Given the description of an element on the screen output the (x, y) to click on. 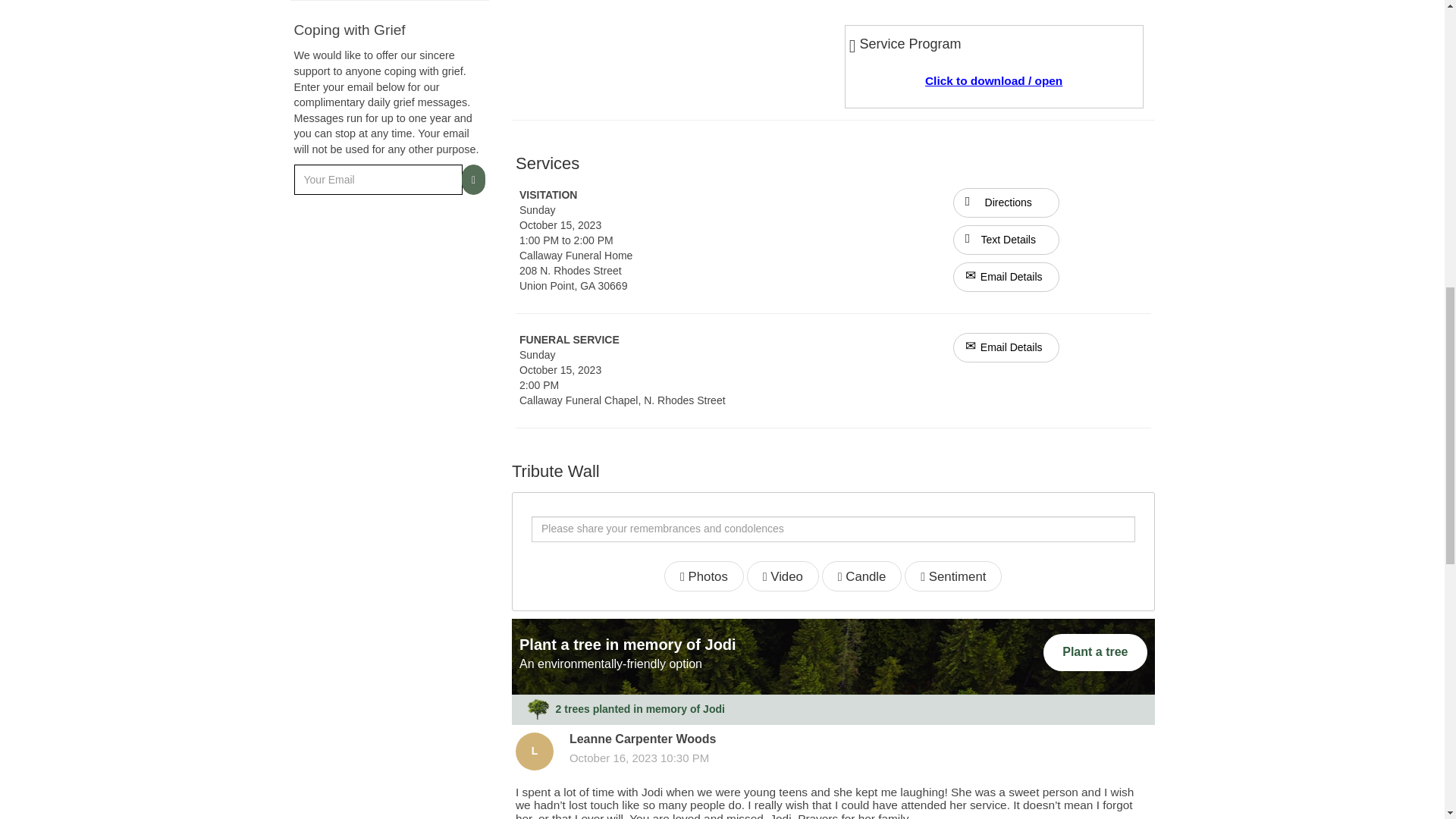
Directions (1006, 202)
Email Details (1006, 276)
Plant a tree (1095, 652)
Plant a tree (1095, 651)
Directions (1006, 201)
Leanne Carpenter Woods (534, 751)
Email Details (1006, 347)
Text Details (1006, 239)
